Given the description of an element on the screen output the (x, y) to click on. 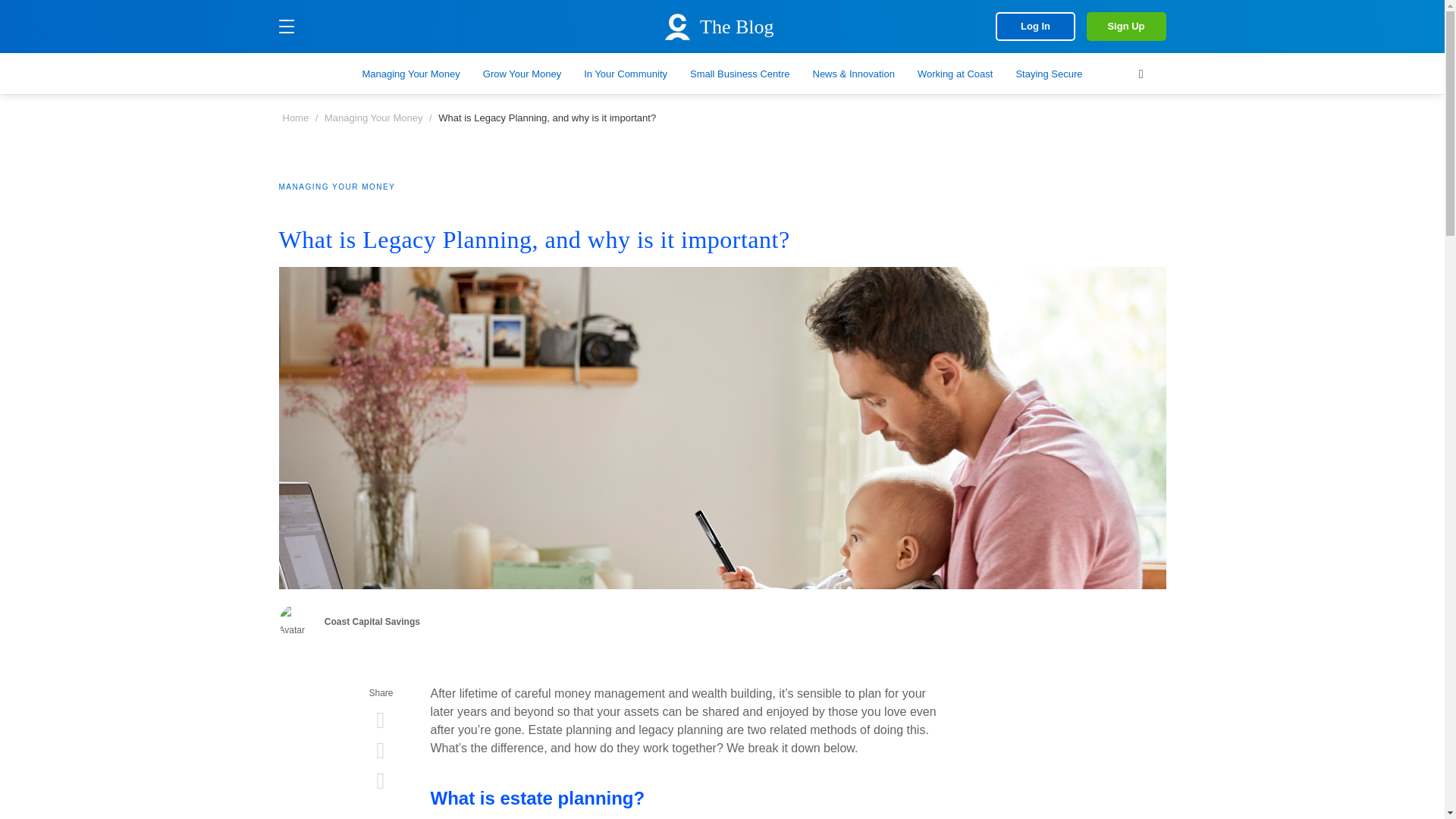
Managing Your Money (373, 117)
Working at Coast (954, 73)
Home (295, 117)
Grow Your Money (521, 73)
Sign Up (1126, 26)
Small Business Centre (740, 73)
The Blog (717, 23)
In Your Community (624, 73)
Staying Secure (1047, 73)
Log In (1035, 26)
MANAGING YOUR MONEY (337, 186)
Managing Your Money (410, 73)
